Given the description of an element on the screen output the (x, y) to click on. 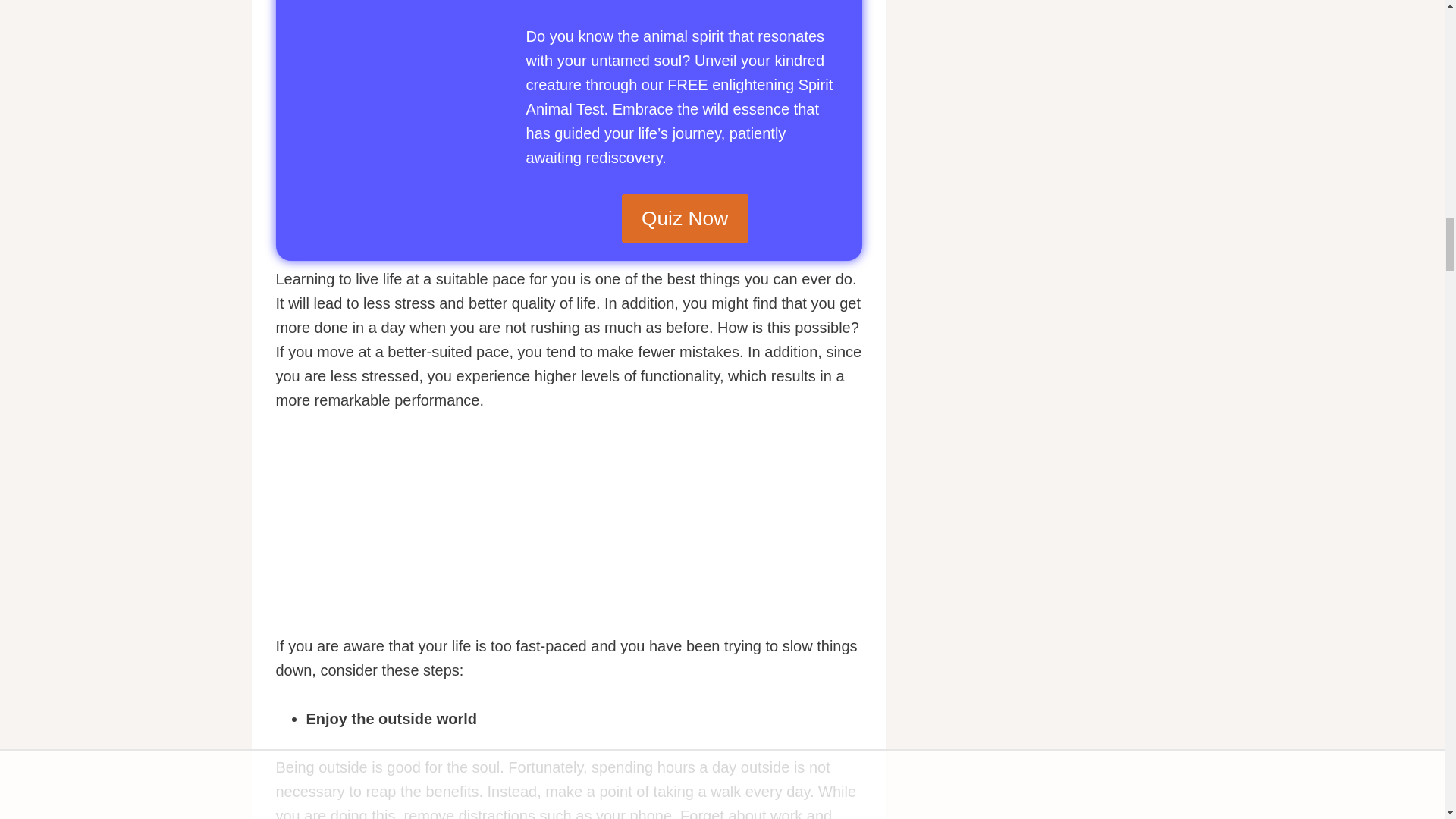
Quiz Now (684, 217)
